Given the description of an element on the screen output the (x, y) to click on. 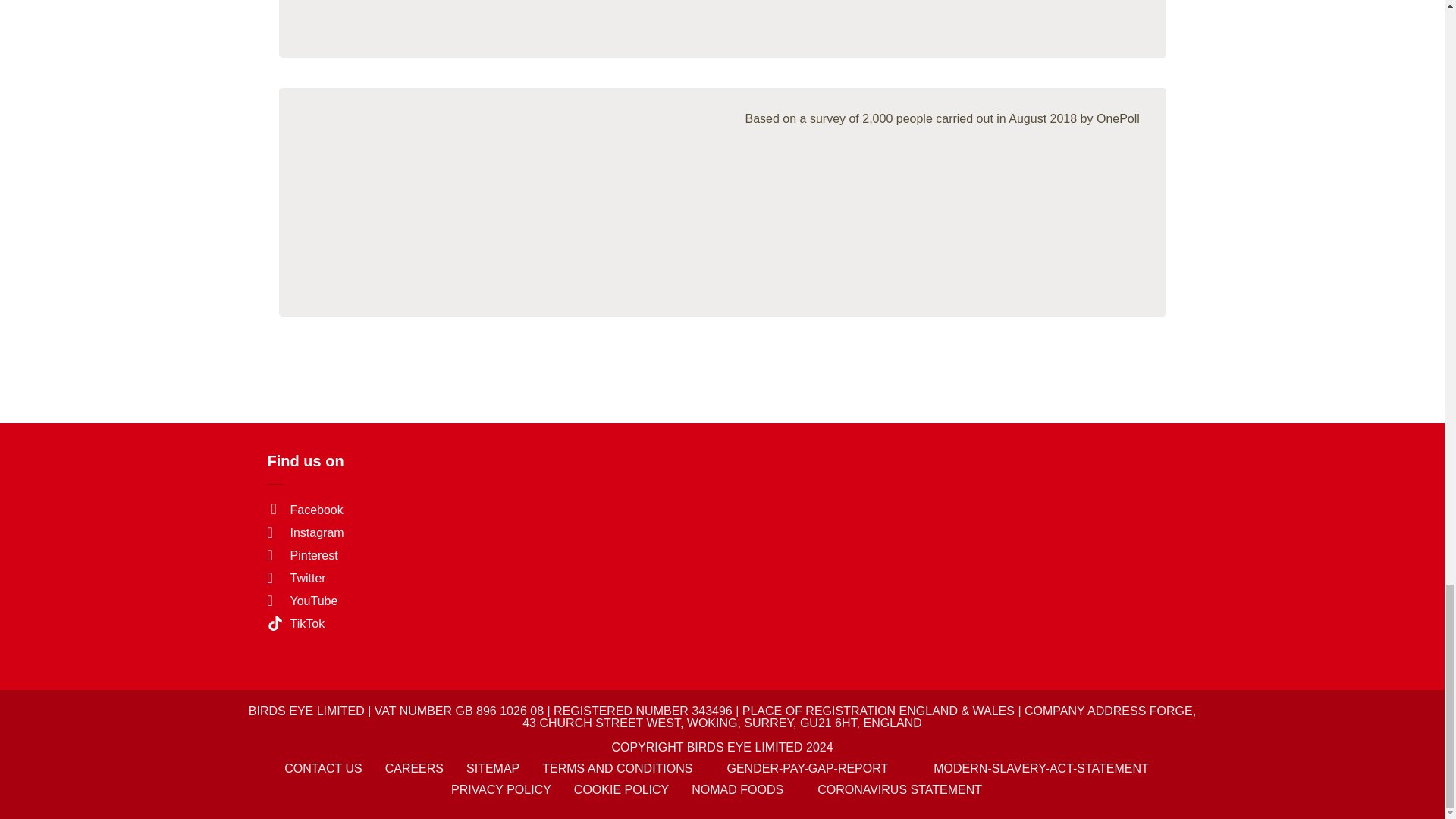
YouTube (301, 601)
Pinterest (301, 555)
CONTACT US (322, 768)
TikTok (295, 623)
Facebook (304, 510)
Instagram (304, 532)
Twitter (295, 578)
